Given the description of an element on the screen output the (x, y) to click on. 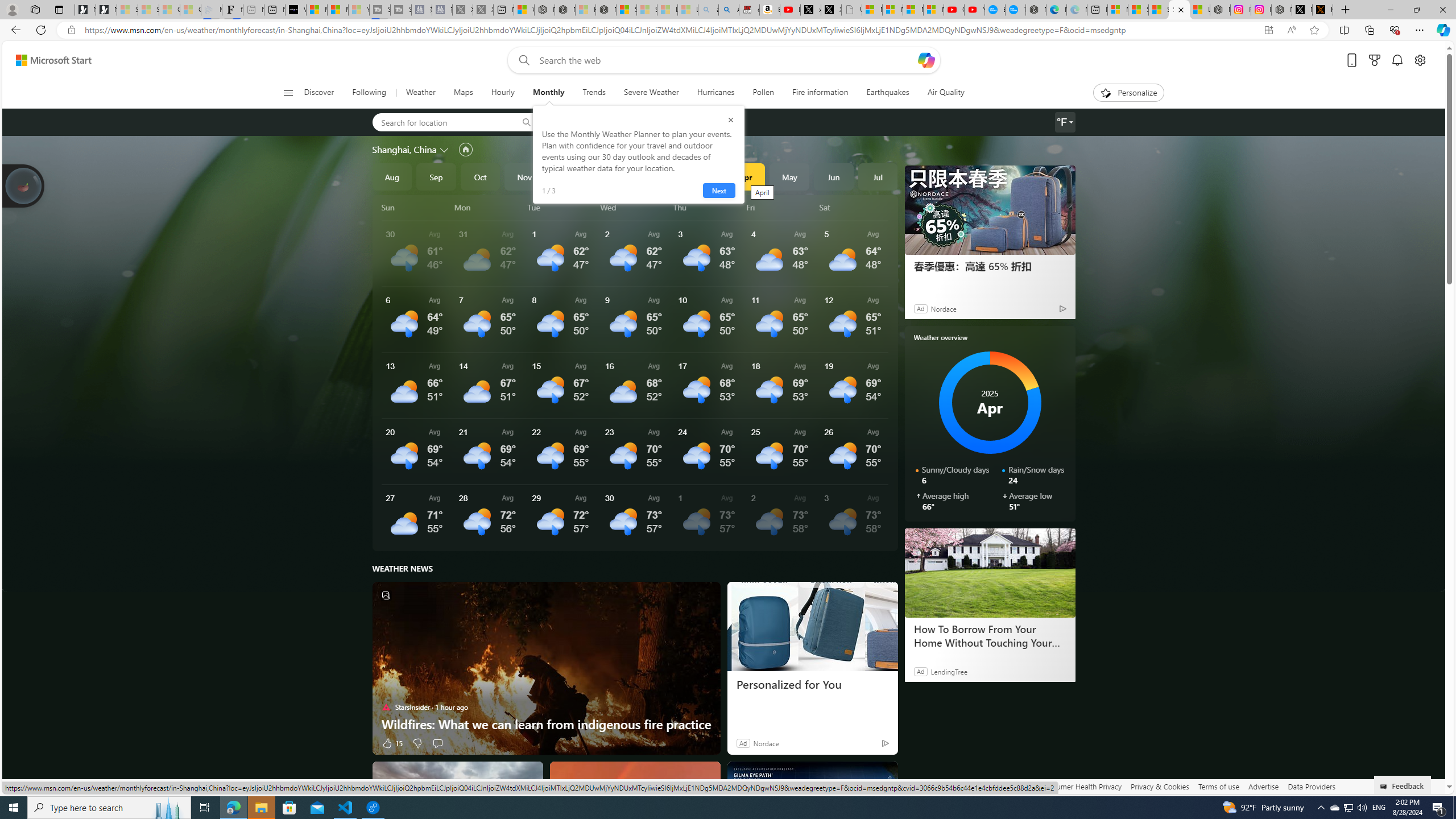
Gloom - YouTube (954, 9)
Class: button-glyph (287, 92)
Join us in planting real trees to help our planet! (23, 184)
Enter your search term (726, 59)
Maps (462, 92)
Open settings (1420, 60)
